Given the description of an element on the screen output the (x, y) to click on. 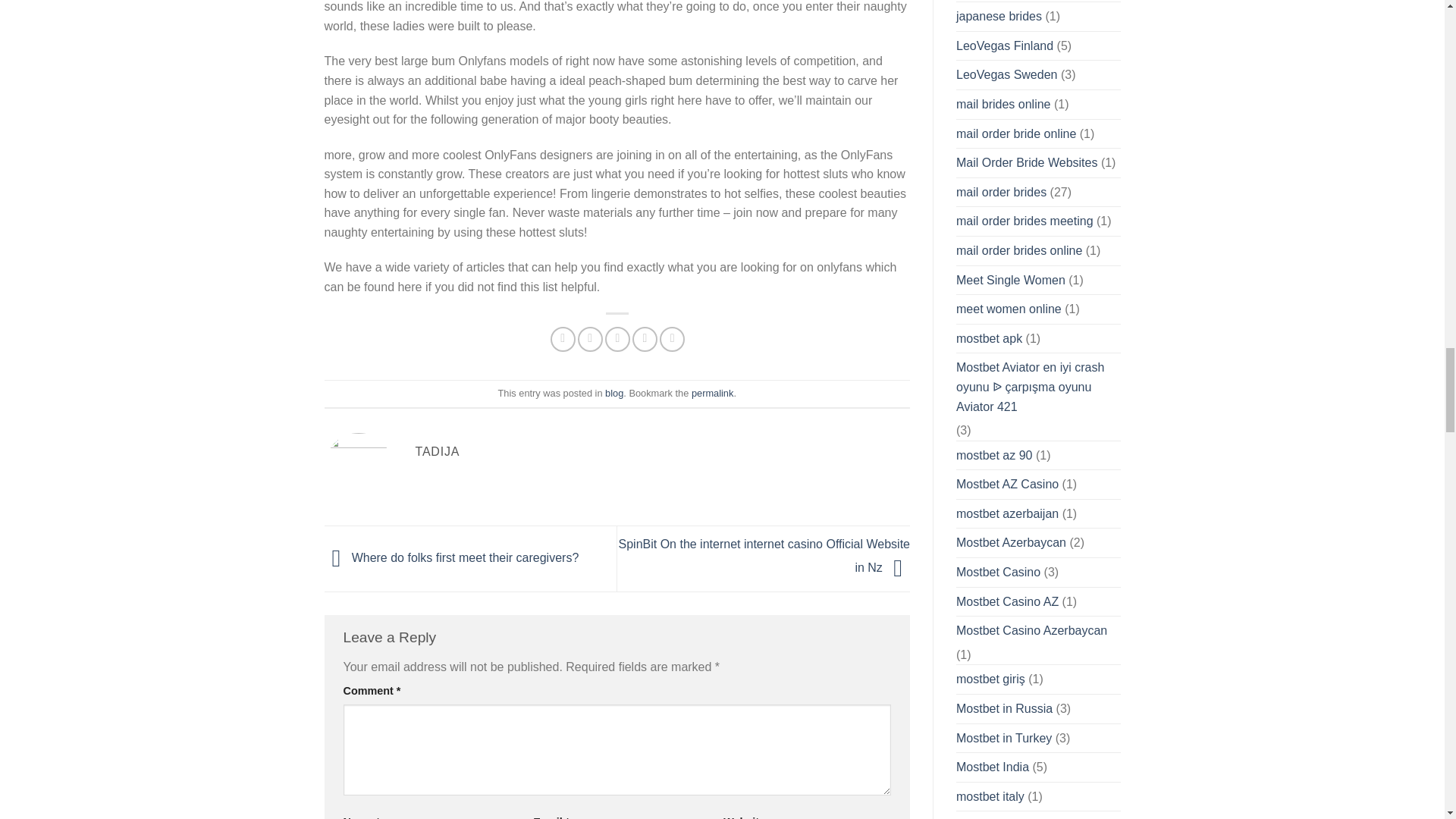
blog (614, 392)
permalink (712, 392)
Email to a Friend (617, 339)
Share on Twitter (590, 339)
Share on Facebook (562, 339)
Pin on Pinterest (644, 339)
Share on LinkedIn (671, 339)
Where do folks first meet their caregivers? (451, 557)
